Given the description of an element on the screen output the (x, y) to click on. 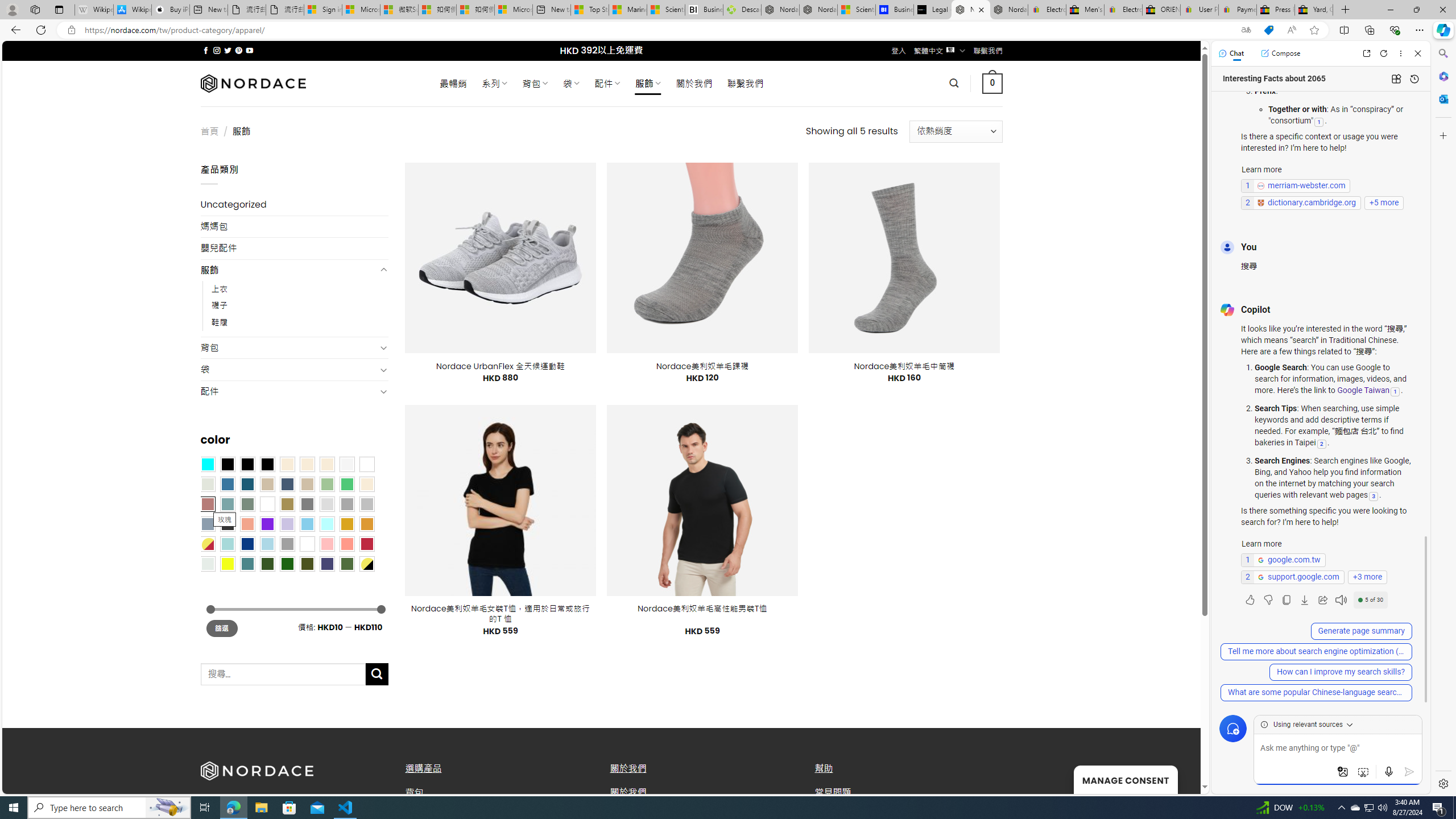
Uncategorized (294, 204)
Go to top (1177, 777)
